Given the description of an element on the screen output the (x, y) to click on. 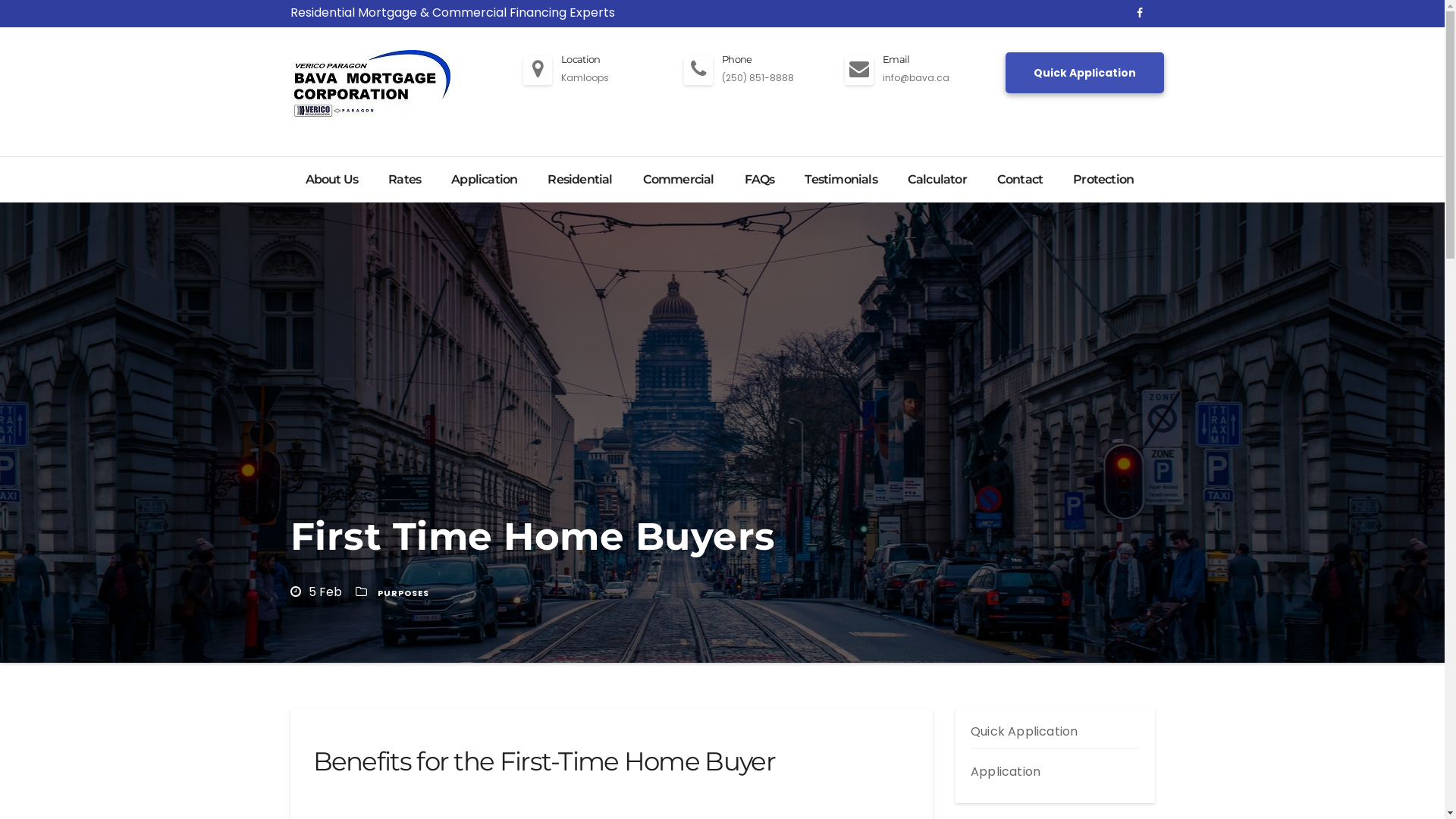
Rates Element type: text (404, 179)
Residential Element type: text (579, 179)
Testimonials Element type: text (840, 179)
About Us Element type: text (331, 179)
PURPOSES Element type: text (403, 592)
Quick Application Element type: text (1084, 72)
Protection Element type: text (1102, 179)
Contact Element type: text (1019, 179)
Quick Application Element type: text (1023, 731)
Commercial Element type: text (678, 179)
Application Element type: text (1005, 771)
Calculator Element type: text (937, 179)
Application Element type: text (484, 179)
FAQs Element type: text (759, 179)
